Given the description of an element on the screen output the (x, y) to click on. 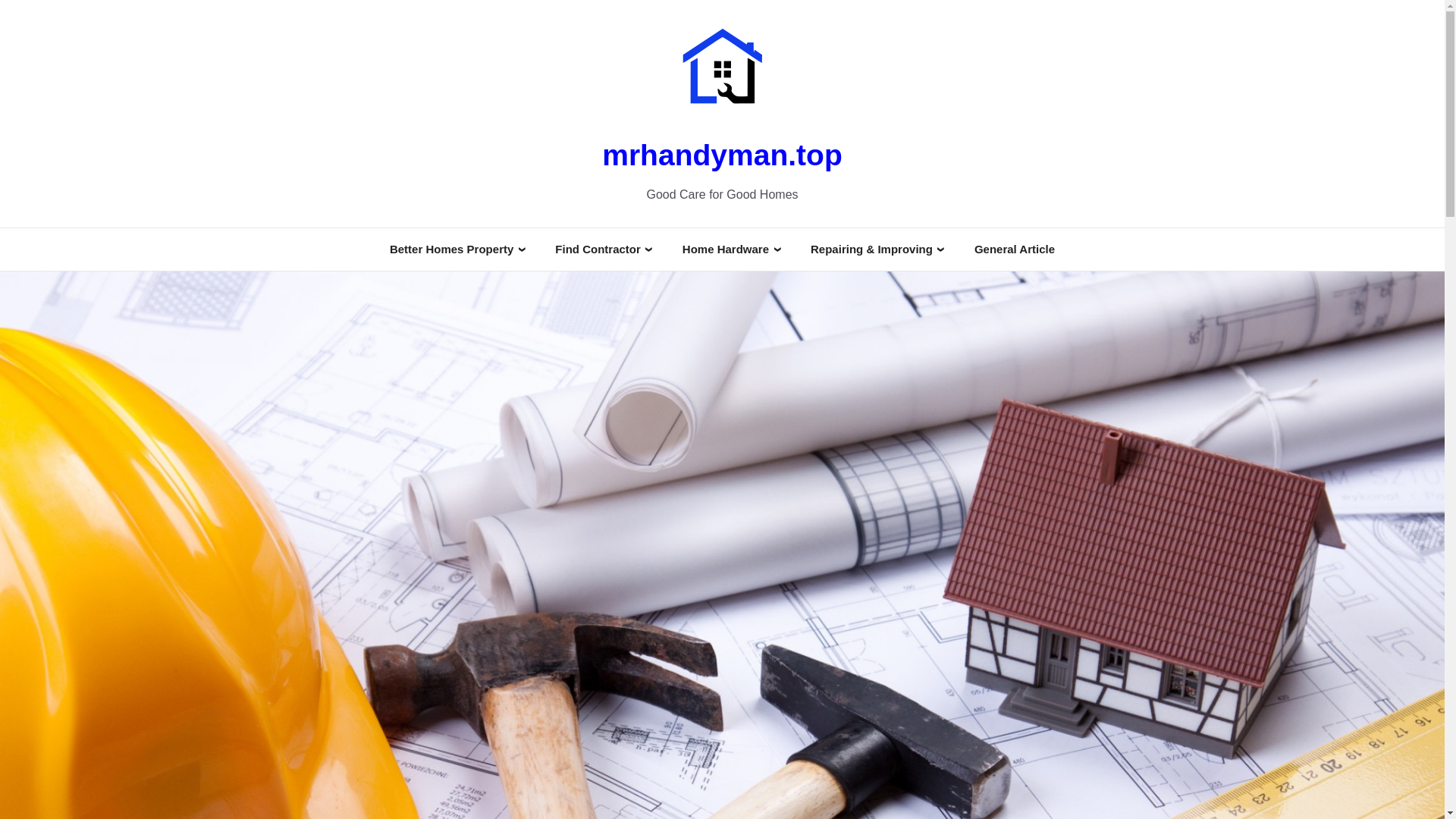
Websites Contractor (610, 432)
Home Manufacturing (738, 390)
Contractor Near Me (608, 302)
Home Hardware Direct (743, 347)
Reliable Home Contractor (623, 378)
Occupied Private Housing (878, 420)
Property Management (449, 368)
Business Property (861, 344)
Home Repair Strategy (869, 388)
Home Residential (437, 324)
